Given the description of an element on the screen output the (x, y) to click on. 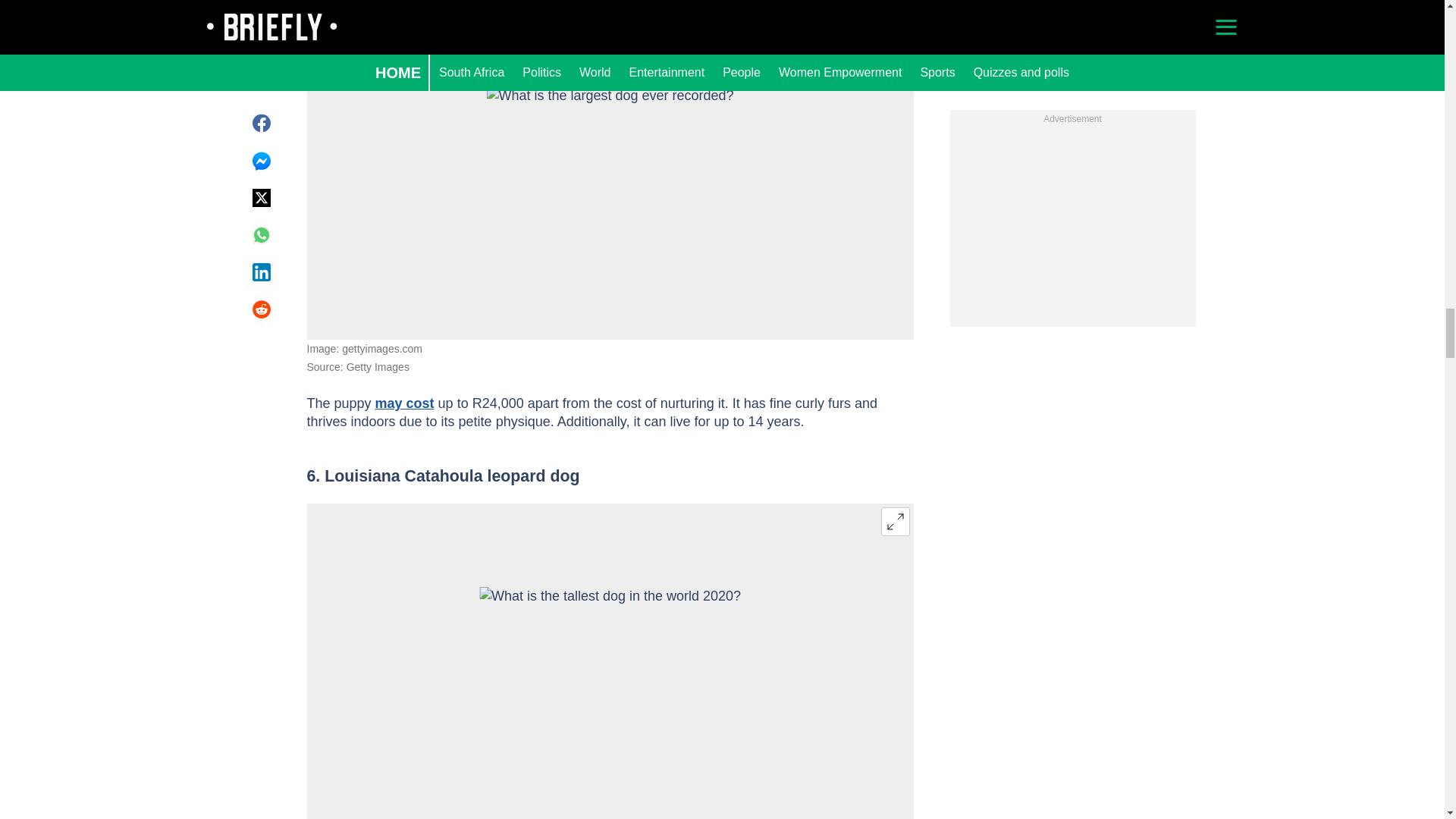
What is the tallest dog in the world 2020? (610, 674)
Expand image (895, 16)
What is the largest dog ever recorded? (609, 168)
Expand image (895, 521)
